Given the description of an element on the screen output the (x, y) to click on. 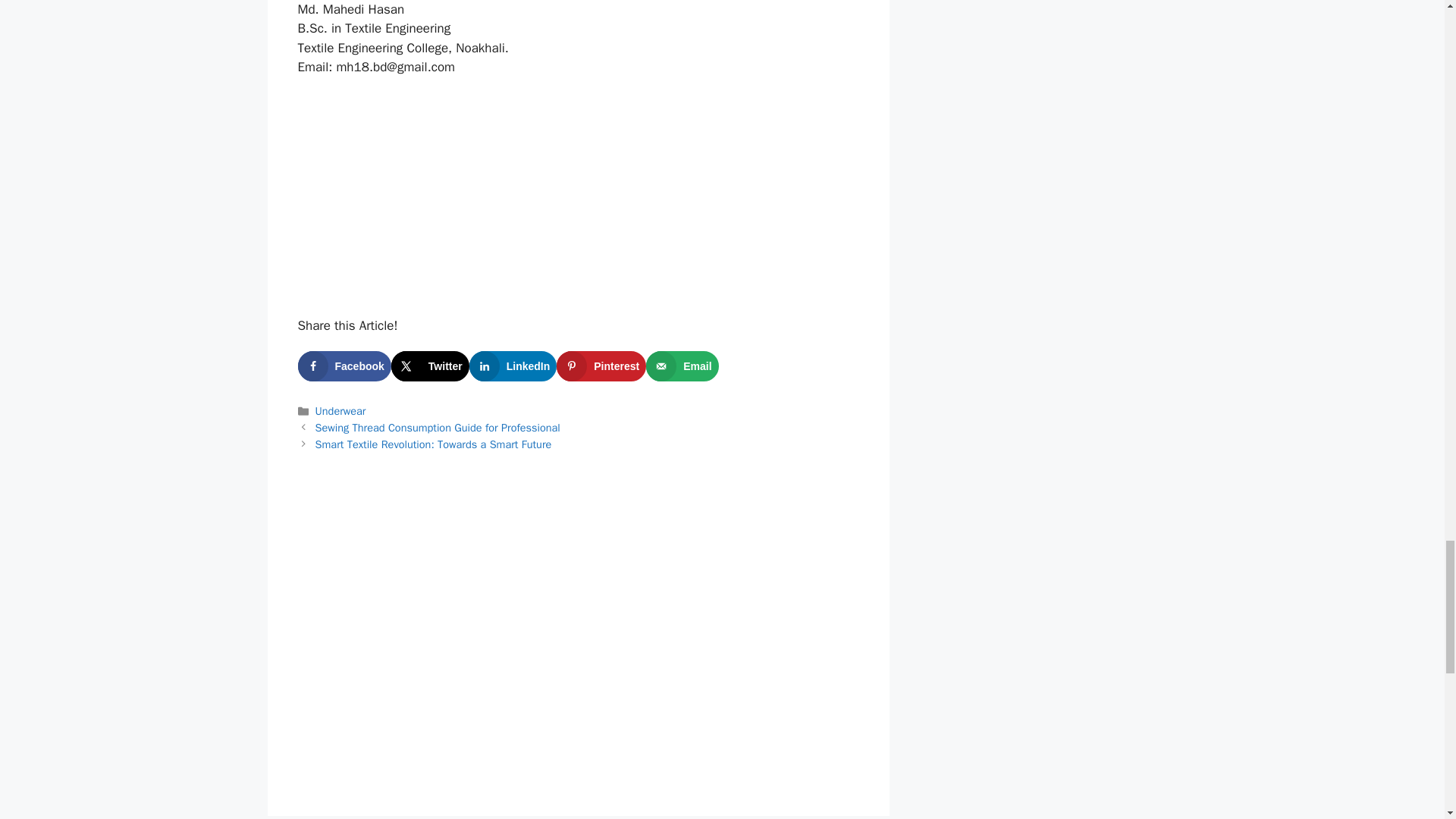
Pinterest (601, 366)
Smart Textile Revolution: Towards a Smart Future (433, 444)
Underwear (340, 410)
Email (681, 366)
Twitter (429, 366)
Share on Facebook (343, 366)
Share on LinkedIn (512, 366)
LinkedIn (512, 366)
Sewing Thread Consumption Guide for Professional (437, 427)
Share on X (429, 366)
Save to Pinterest (601, 366)
Send over email (681, 366)
Facebook (343, 366)
